Given the description of an element on the screen output the (x, y) to click on. 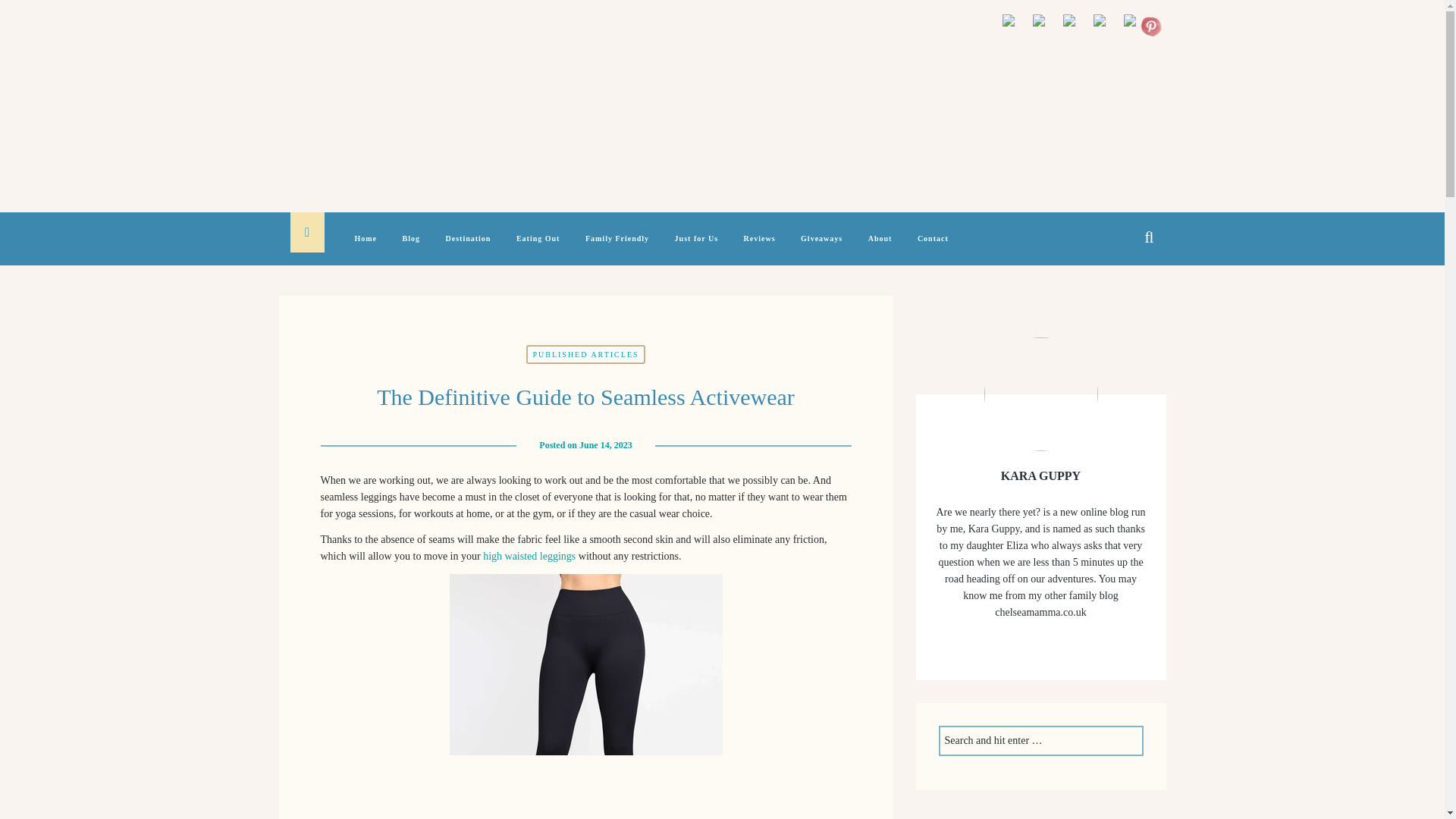
Eating Out (537, 247)
Just for Us (695, 247)
Reviews (759, 247)
Blog (411, 247)
Family Friendly (617, 247)
Giveaways (821, 247)
Home (366, 247)
About (879, 247)
Destination (468, 247)
